Given the description of an element on the screen output the (x, y) to click on. 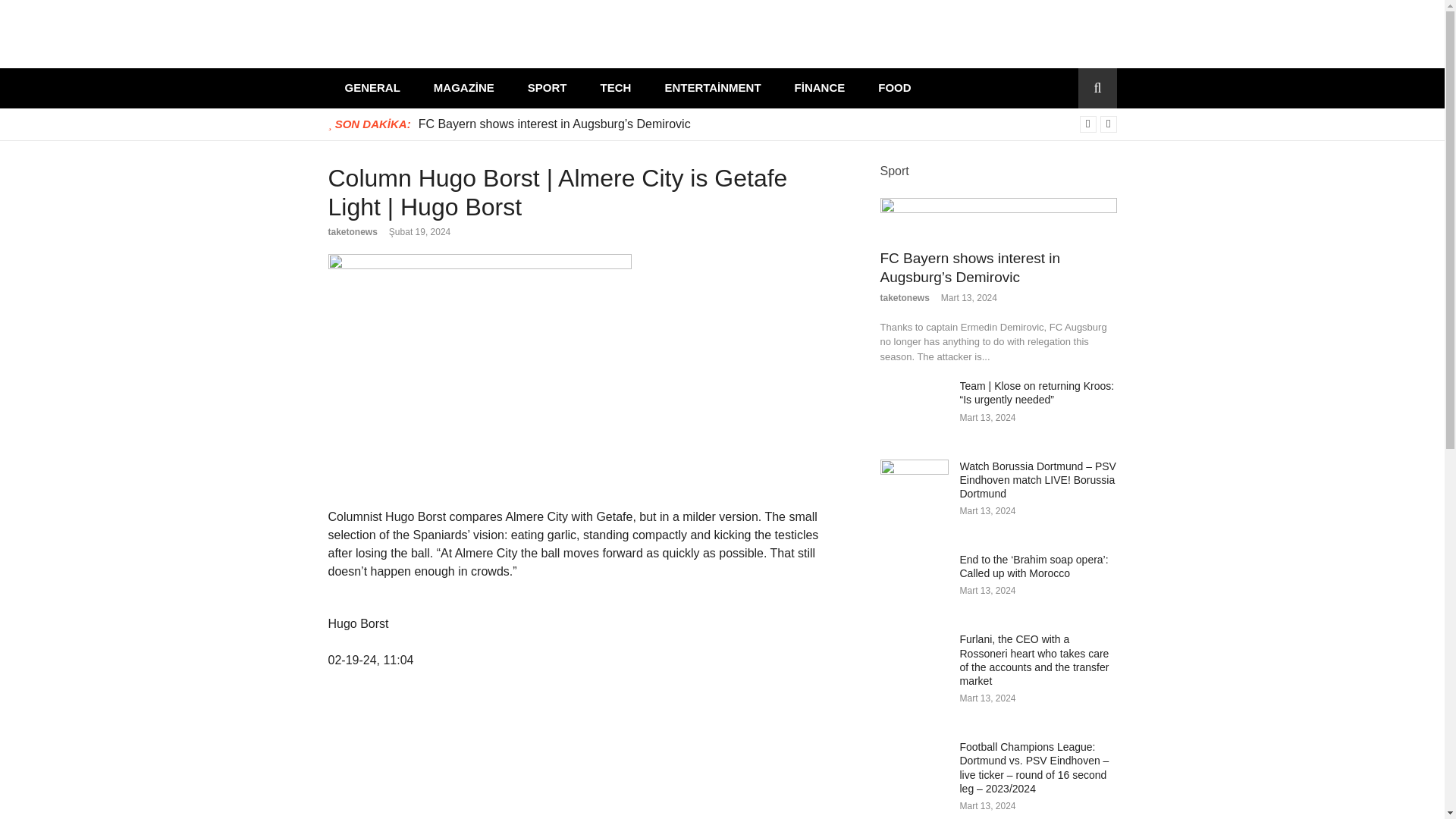
FINANCE (819, 87)
FOOD (894, 87)
SPORT (547, 87)
taketonews (903, 297)
taketonews (352, 231)
MAGAZINE (463, 87)
TECH (615, 87)
ENTERTAINMENT (712, 87)
GENERAL (371, 87)
Sport (893, 169)
